Given the description of an element on the screen output the (x, y) to click on. 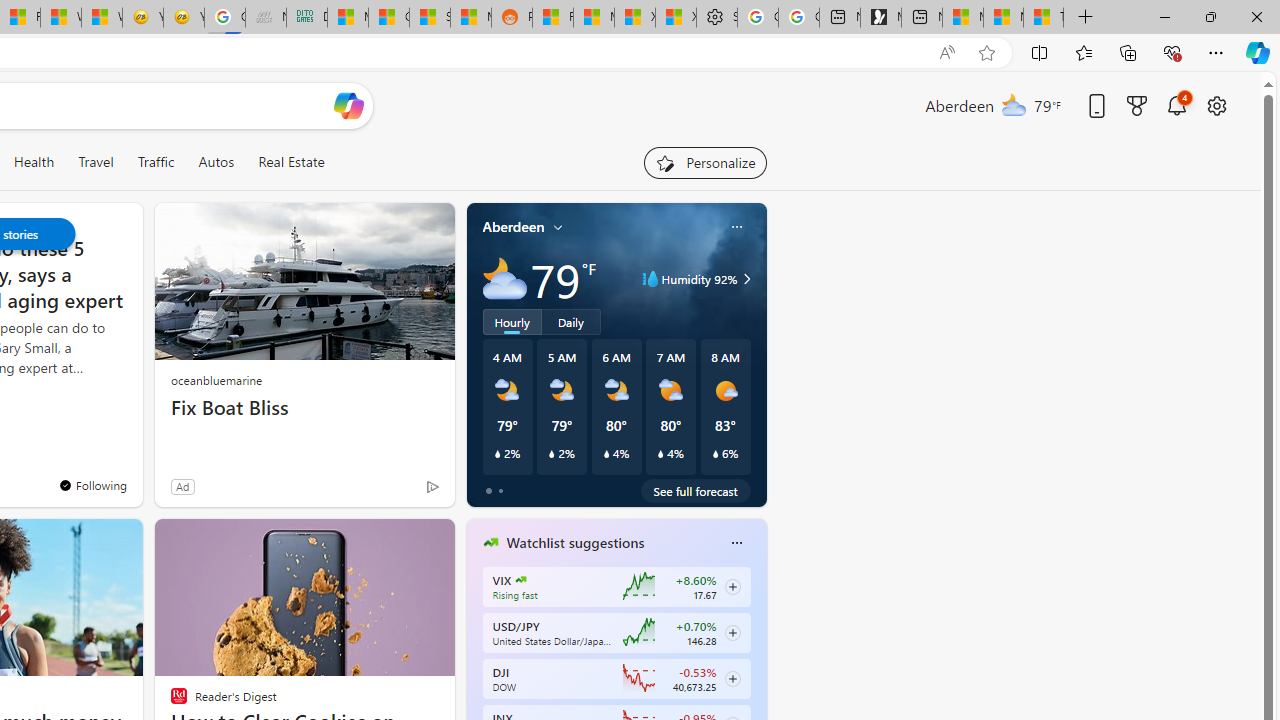
oceanbluemarine (216, 380)
Hide this story (178, 542)
Mostly cloudy (504, 278)
Class: follow-button  m (732, 678)
See full forecast (695, 490)
